Given the description of an element on the screen output the (x, y) to click on. 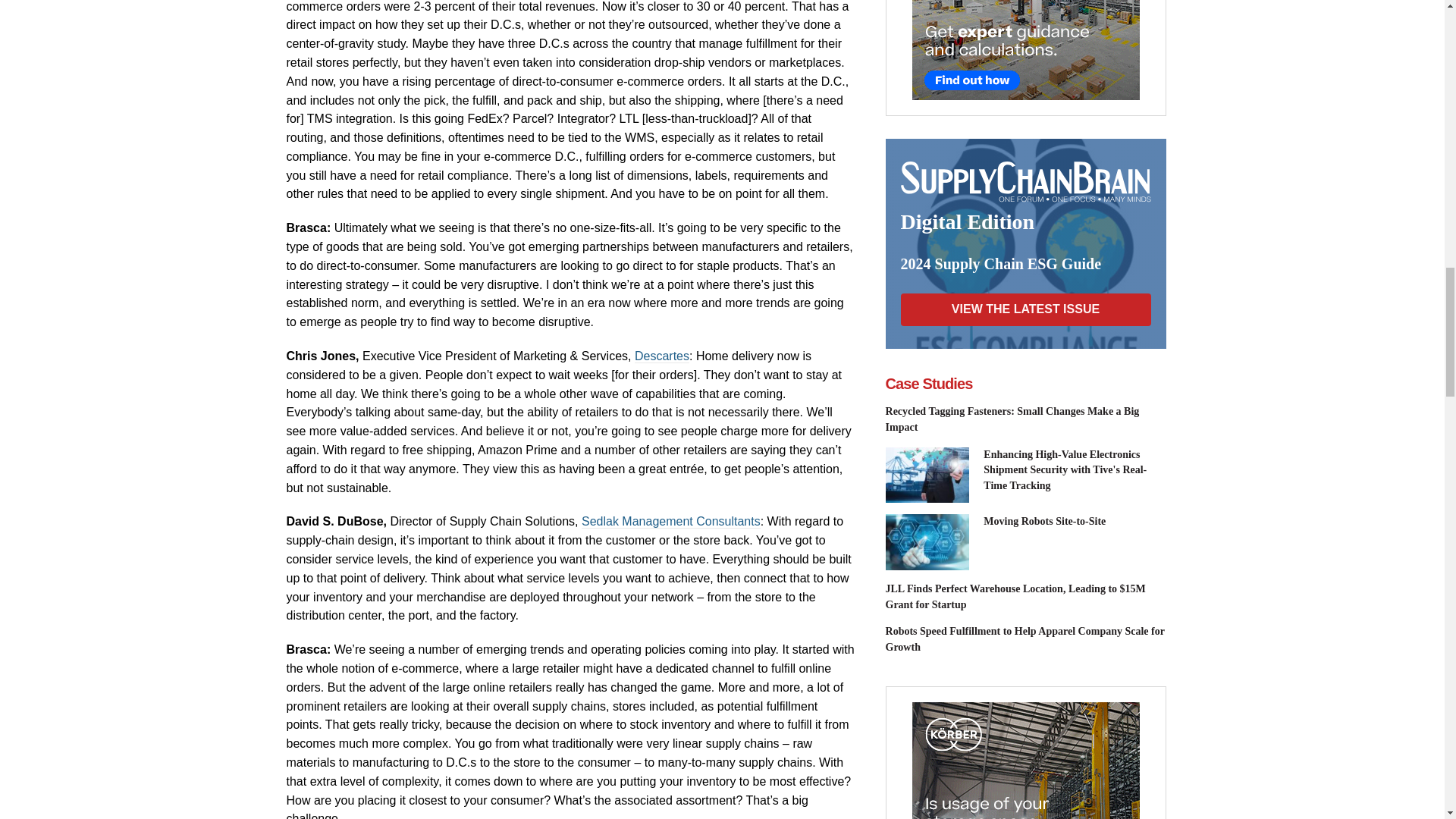
P65 TIVE.jpg (927, 475)
P66 EXOTEC.jpg (927, 542)
